Given the description of an element on the screen output the (x, y) to click on. 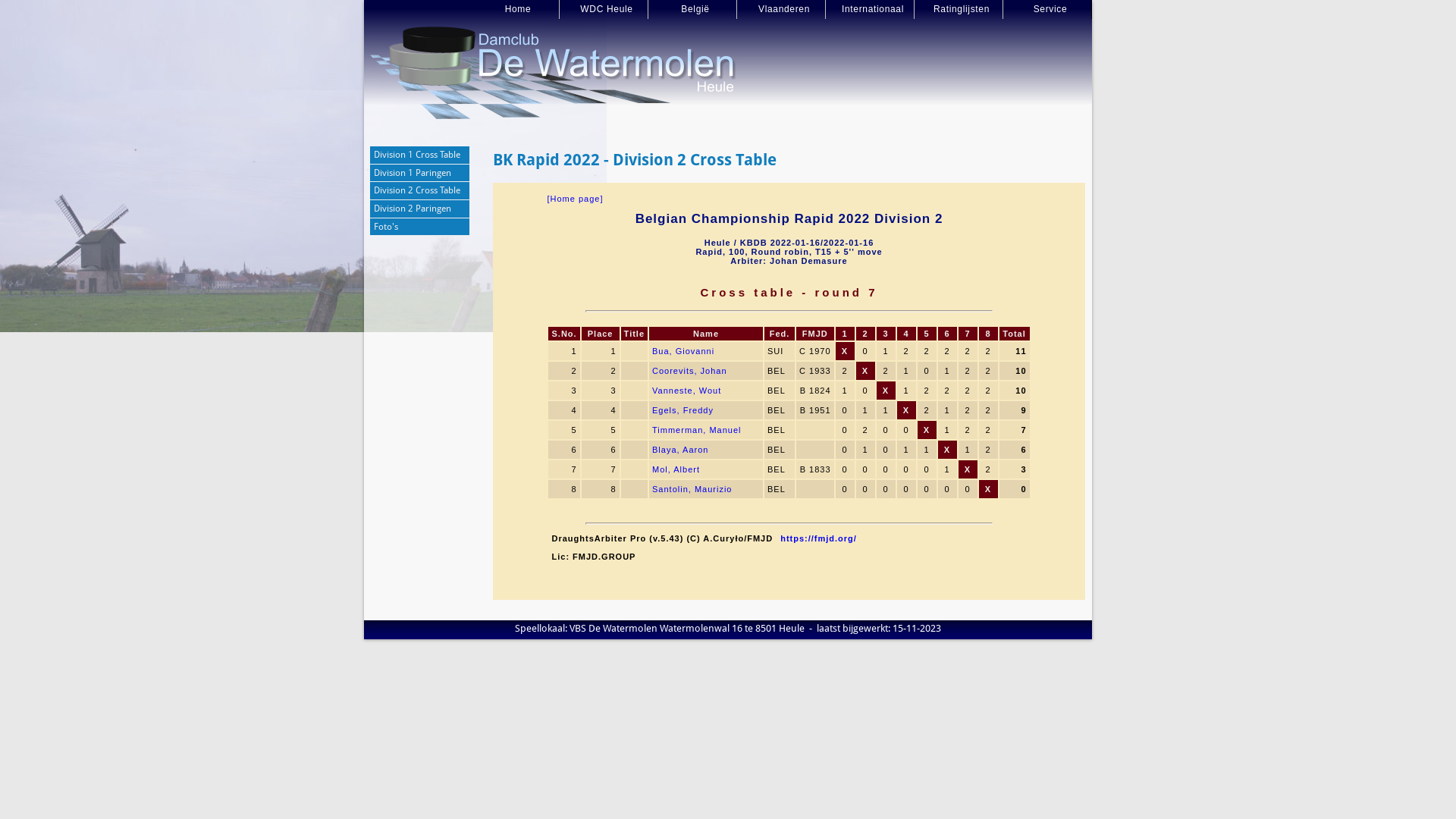
Internationaal Element type: text (869, 9)
Division 2 Cross Table Element type: text (419, 191)
Foto's Element type: text (419, 227)
Home Element type: text (514, 9)
Division 1 Paringen Element type: text (419, 173)
Vlaanderen Element type: text (781, 9)
Service Element type: text (1047, 9)
Ratinglijsten Element type: text (958, 9)
Division 1 Cross Table Element type: text (419, 155)
WDC Heule Element type: text (603, 9)
Division 2 Paringen Element type: text (419, 209)
